Given the description of an element on the screen output the (x, y) to click on. 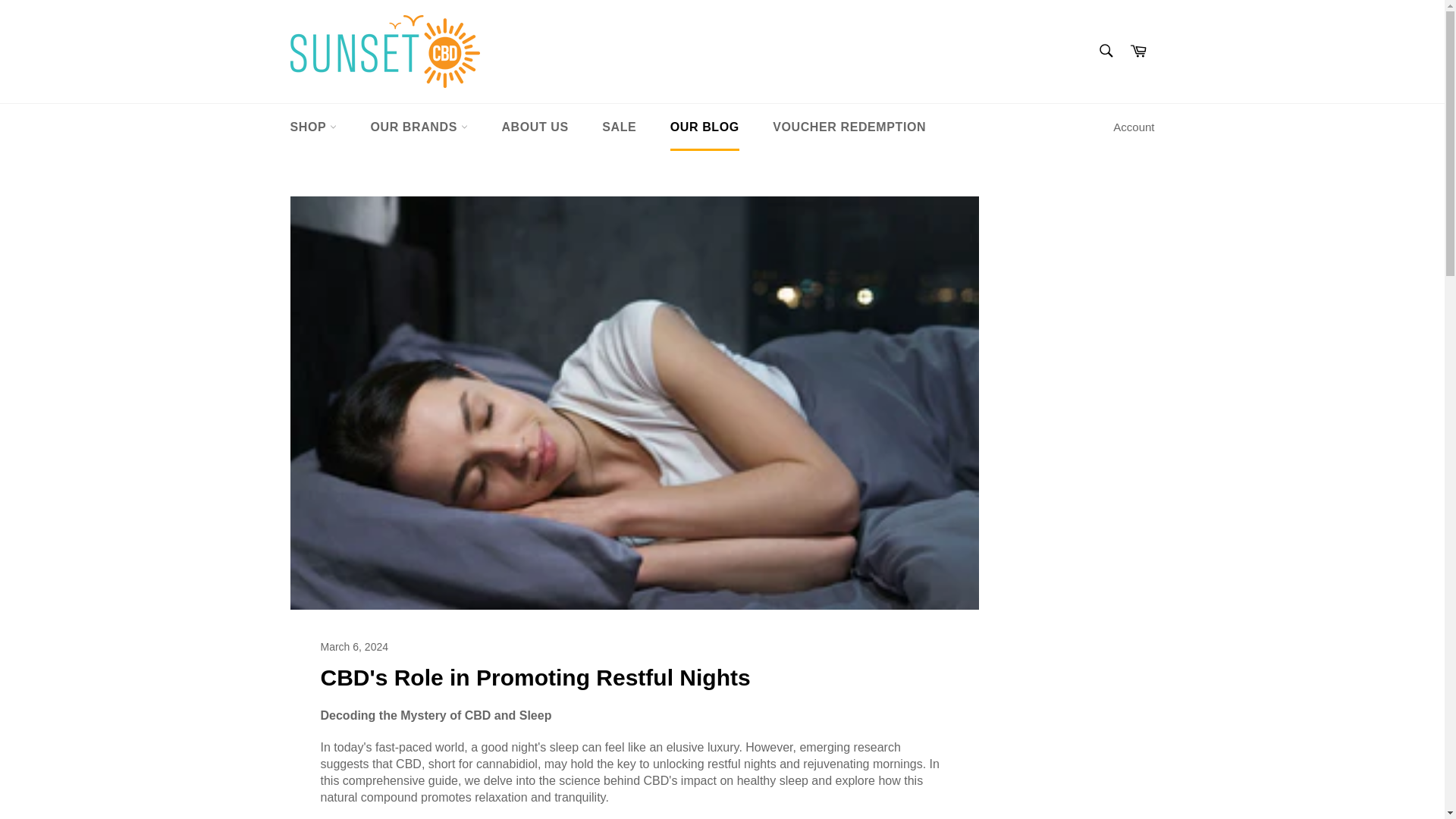
Search (1104, 50)
SHOP (313, 127)
Cart (1138, 51)
